Given the description of an element on the screen output the (x, y) to click on. 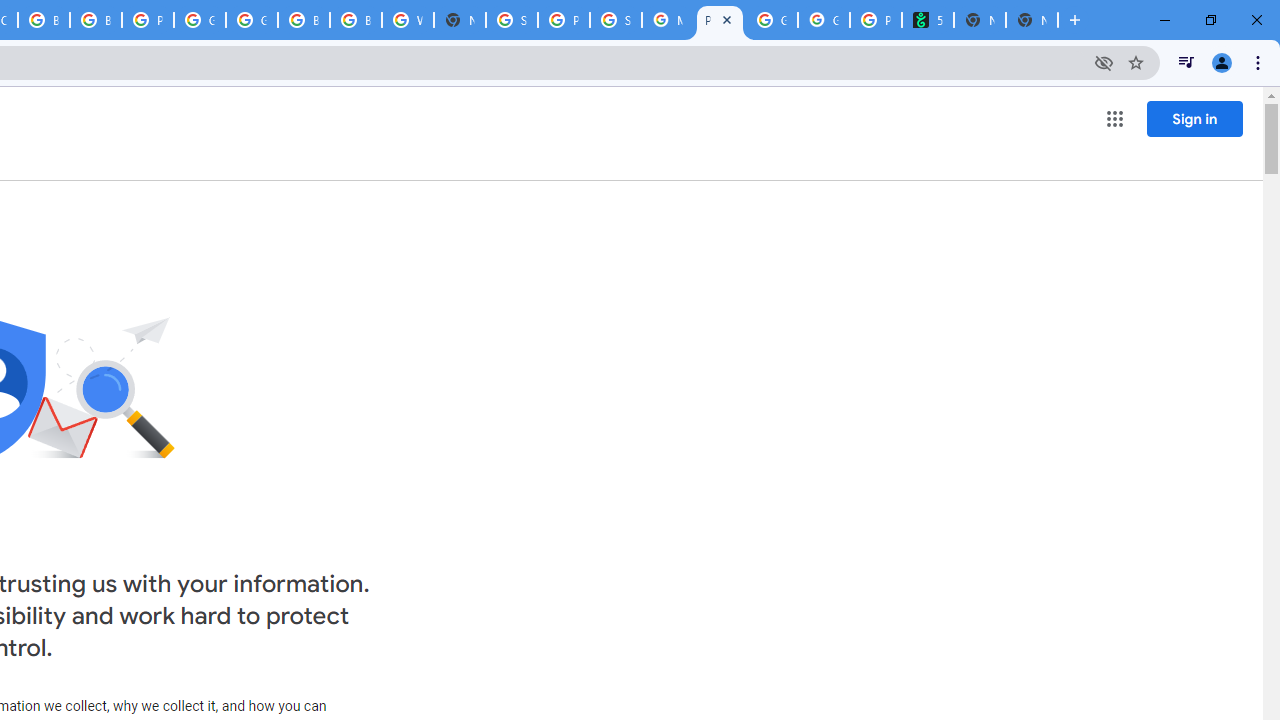
New Tab (1032, 20)
Browse Chrome as a guest - Computer - Google Chrome Help (303, 20)
Google Cloud Platform (200, 20)
New Tab (459, 20)
